Given the description of an element on the screen output the (x, y) to click on. 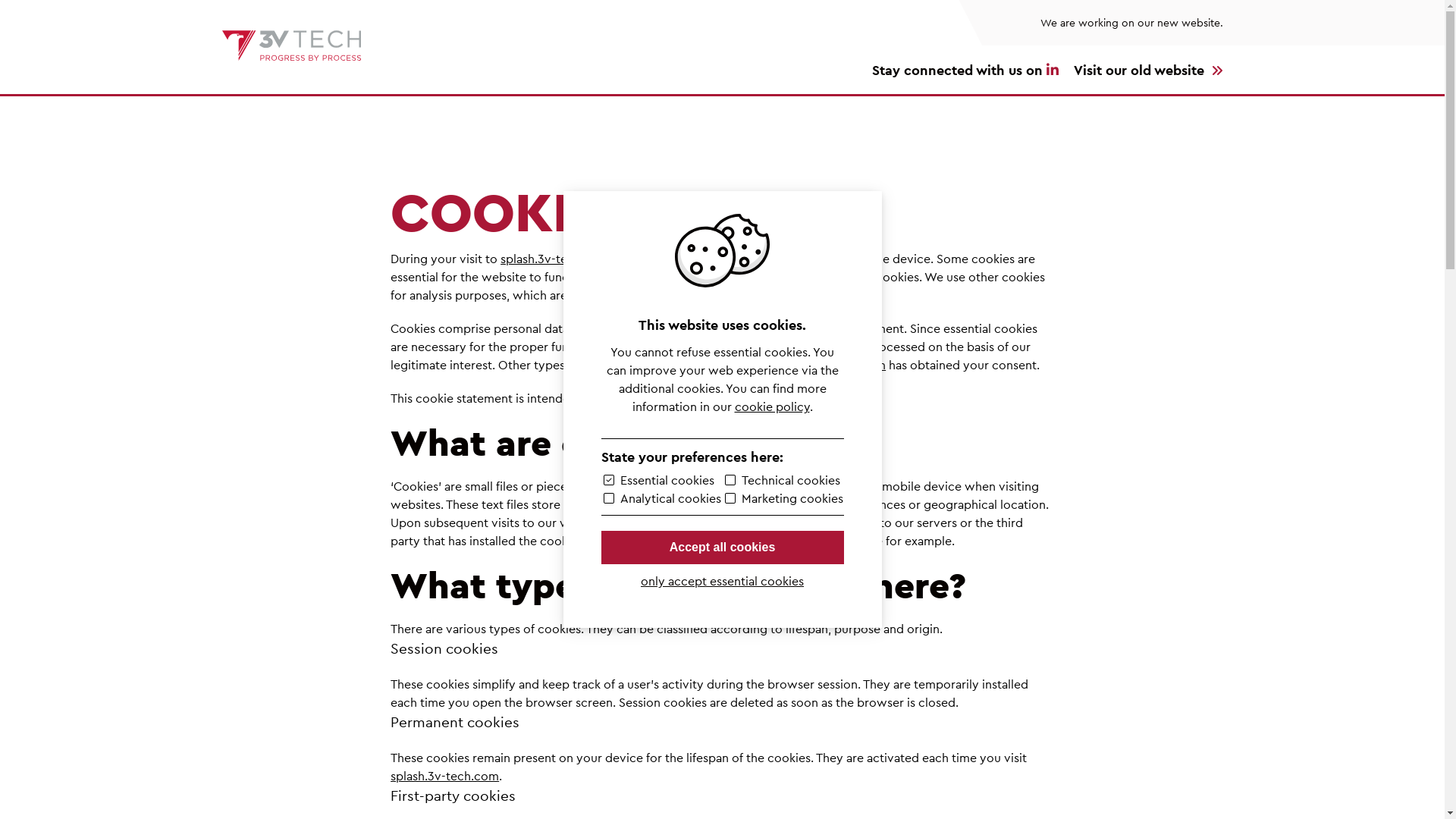
Stay connected with us on Element type: text (962, 69)
only accept essential cookies Element type: text (721, 580)
splash.3v-tech.com Element type: text (554, 258)
splash.3v-tech.com Element type: text (757, 346)
Visit our old website Element type: text (1148, 69)
splash.3v-tech.com Element type: text (831, 364)
cookie policy Element type: text (771, 406)
splash.3v-tech.com Element type: text (444, 775)
Accept all cookies Element type: text (721, 547)
